Given the description of an element on the screen output the (x, y) to click on. 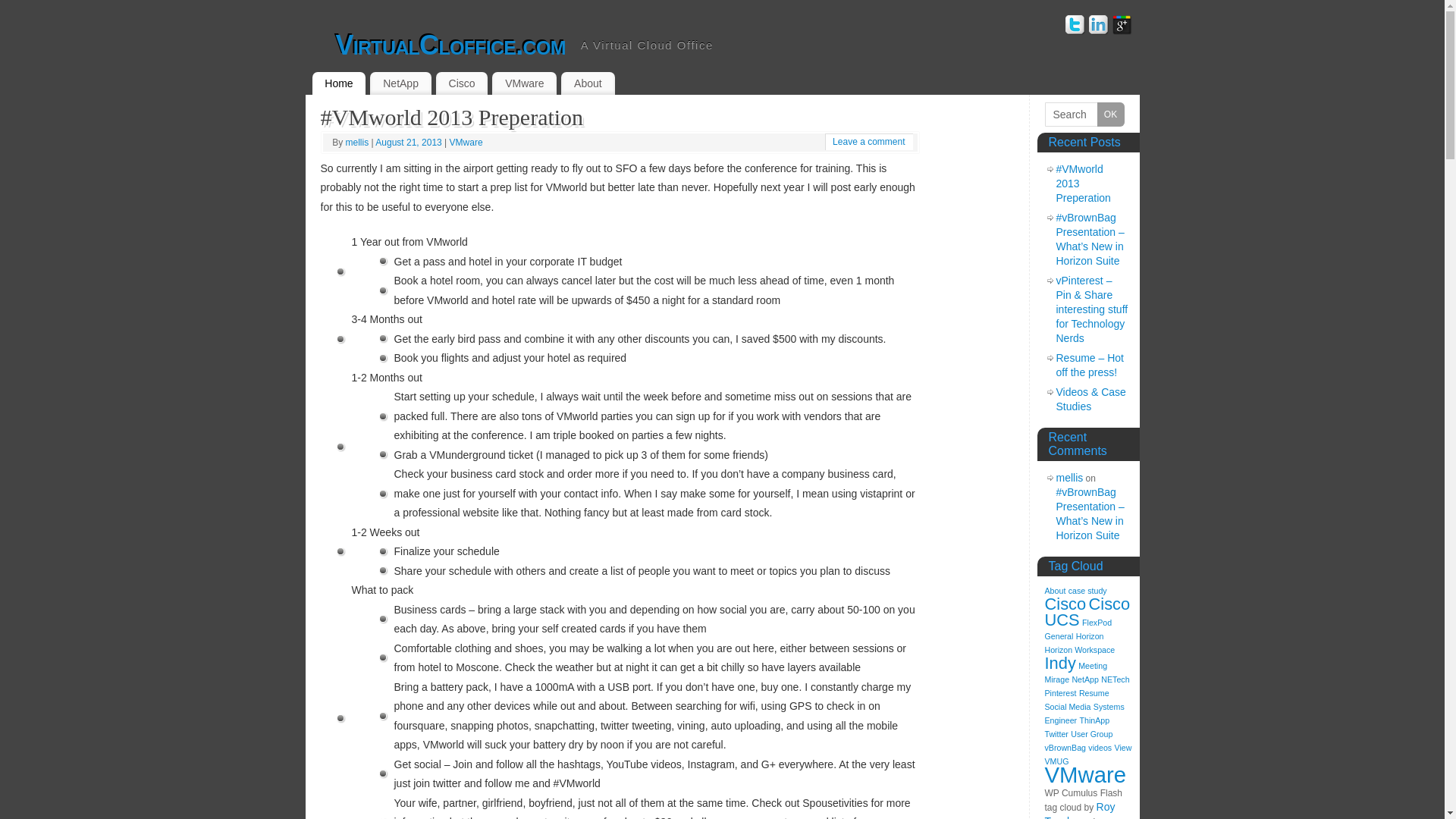
Home (339, 83)
Search (1084, 114)
mellis (357, 142)
VMware (466, 142)
1:14 pm (409, 142)
VirtualCloffice.com (449, 44)
View all posts by mellis (357, 142)
August 21, 2013 (409, 142)
Leave a comment (868, 141)
VirtualCloffice.com (449, 44)
NetApp (399, 83)
VMware (524, 83)
Cisco (461, 83)
About (587, 83)
OK (1110, 114)
